Given the description of an element on the screen output the (x, y) to click on. 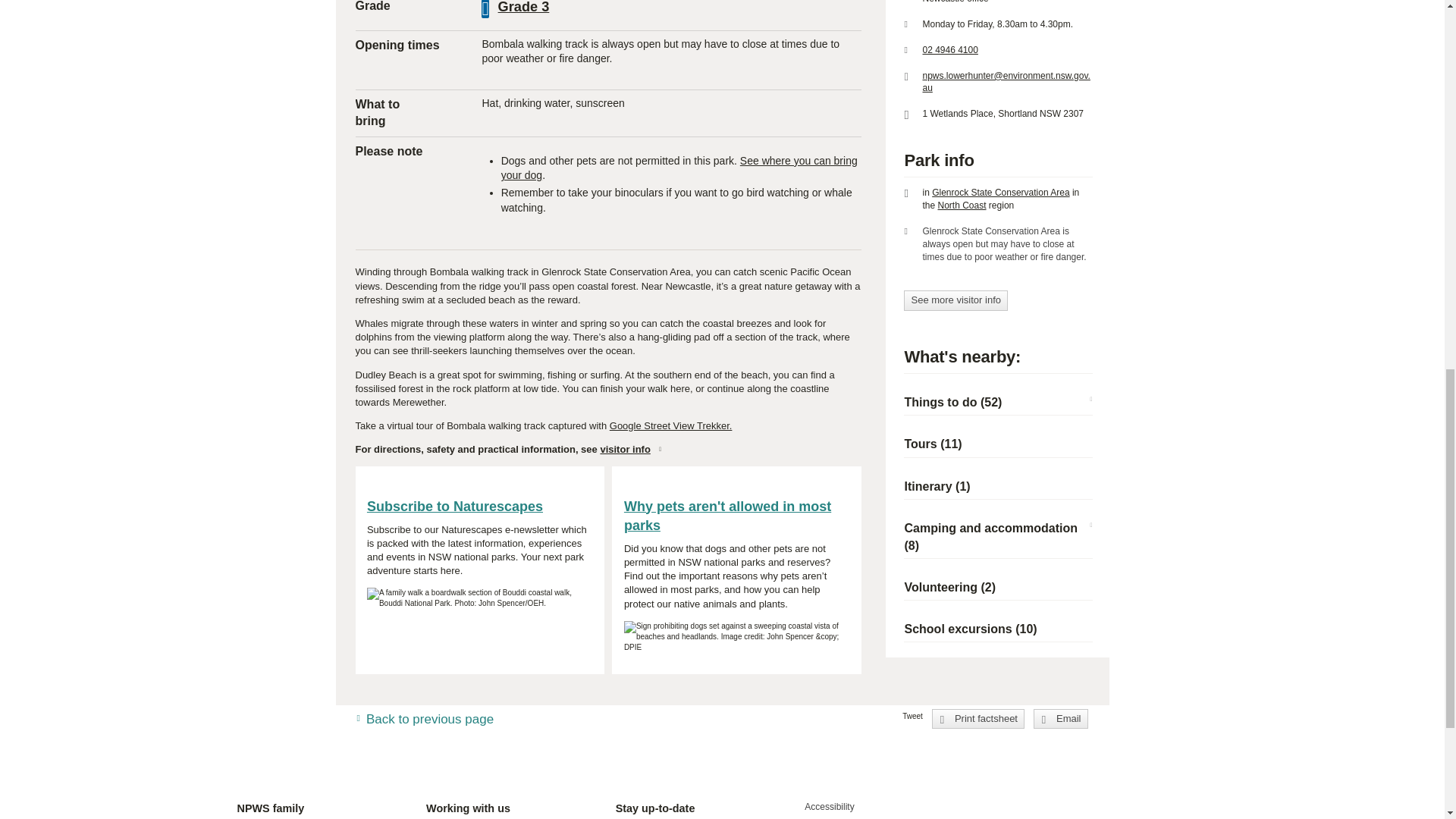
See more things to do nearby (952, 401)
